Given the description of an element on the screen output the (x, y) to click on. 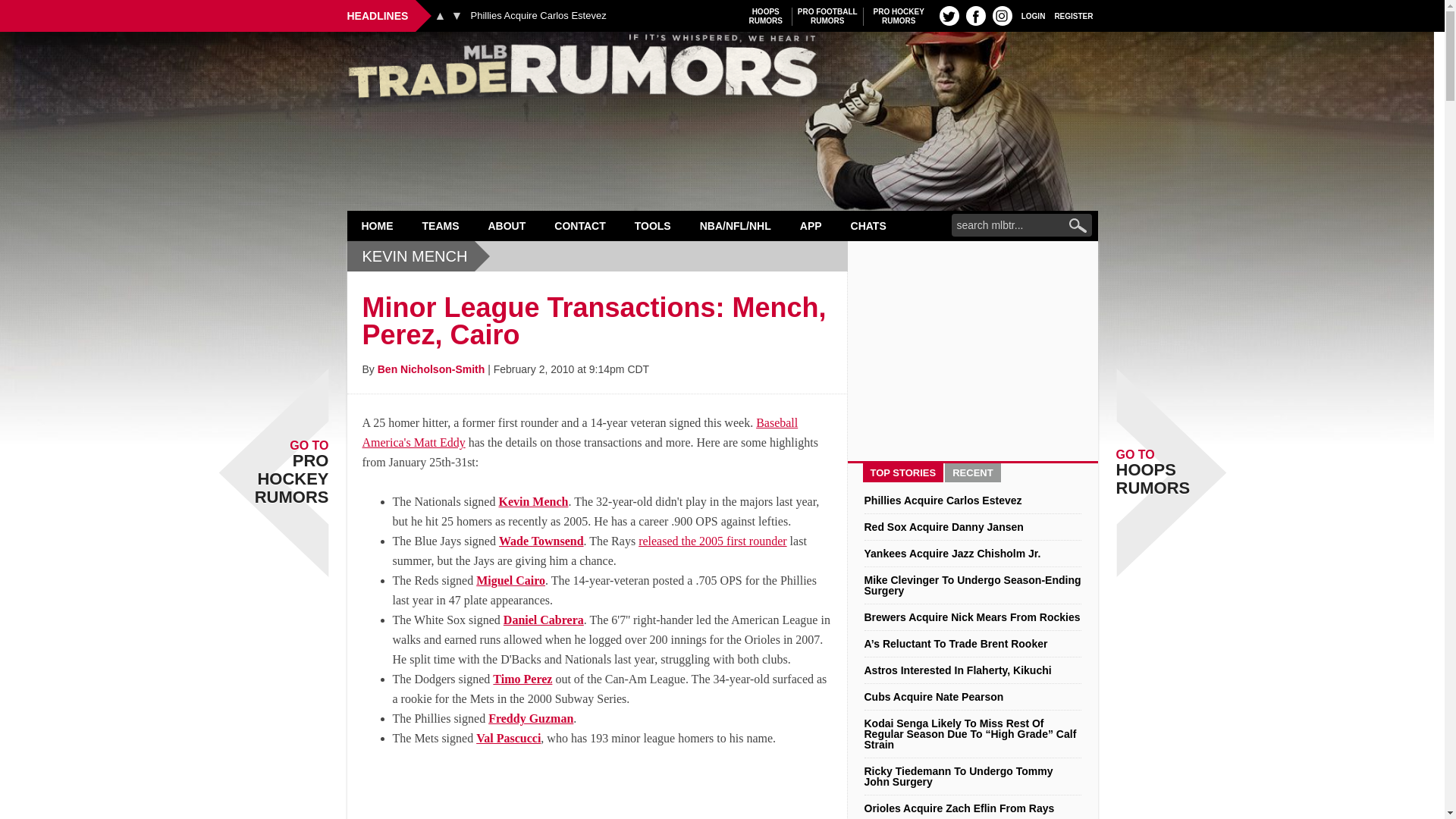
Next (456, 15)
Instagram profile (1001, 15)
Phillies Acquire Carlos Estevez (537, 15)
LOGIN (1032, 15)
TEAMS (440, 225)
Previous (439, 15)
Twitter profile (949, 15)
HOME (377, 225)
REGISTER (1073, 15)
FB profile (898, 16)
MLB Trade Rumors (827, 16)
